Given the description of an element on the screen output the (x, y) to click on. 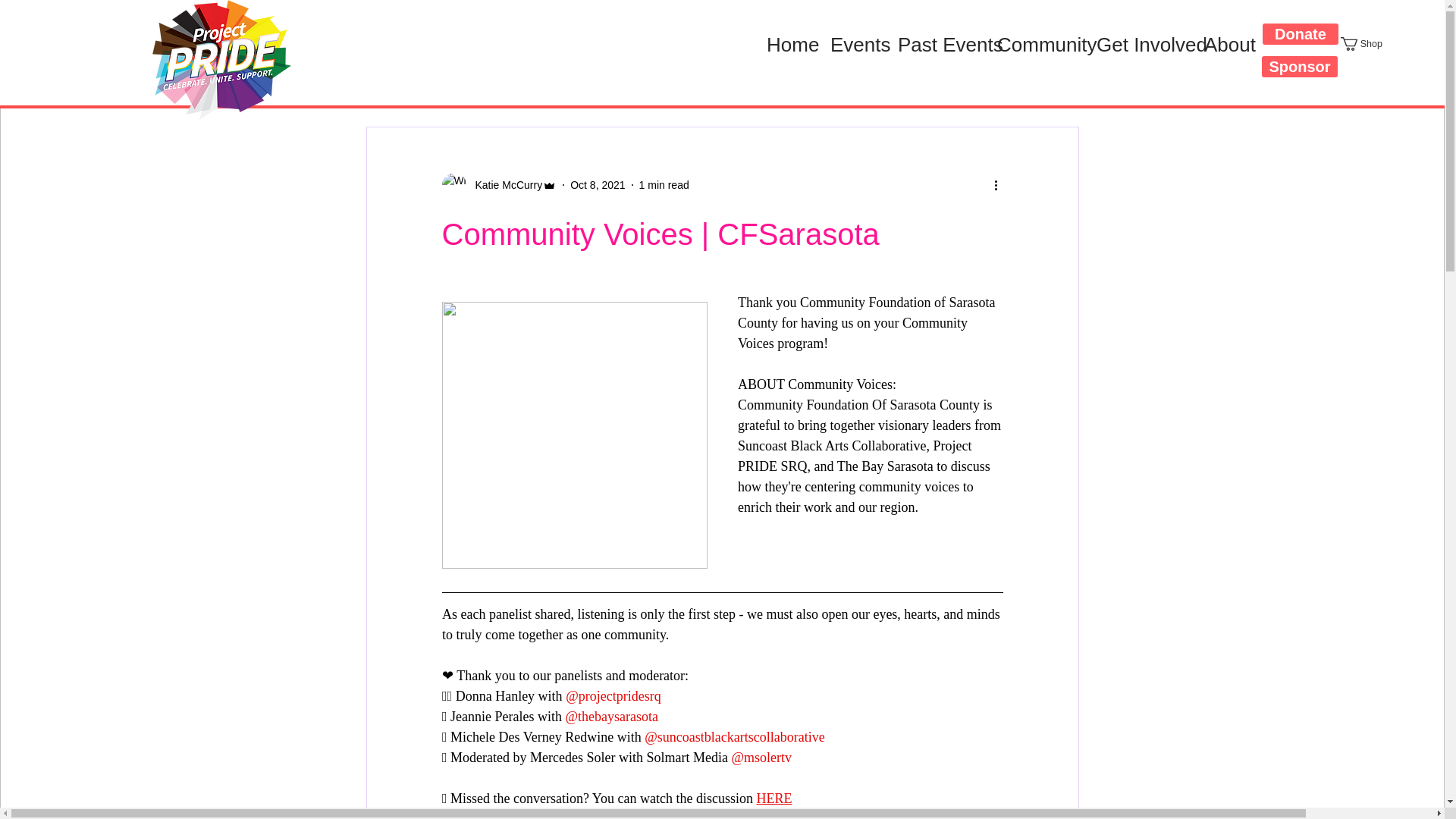
Community (1034, 44)
About (1223, 44)
Sponsor (1300, 66)
Katie McCurry (503, 185)
1 min read (663, 184)
Shop (1368, 43)
Home (786, 44)
Donate (1300, 34)
Shop (1368, 43)
Oct 8, 2021 (597, 184)
